Given the description of an element on the screen output the (x, y) to click on. 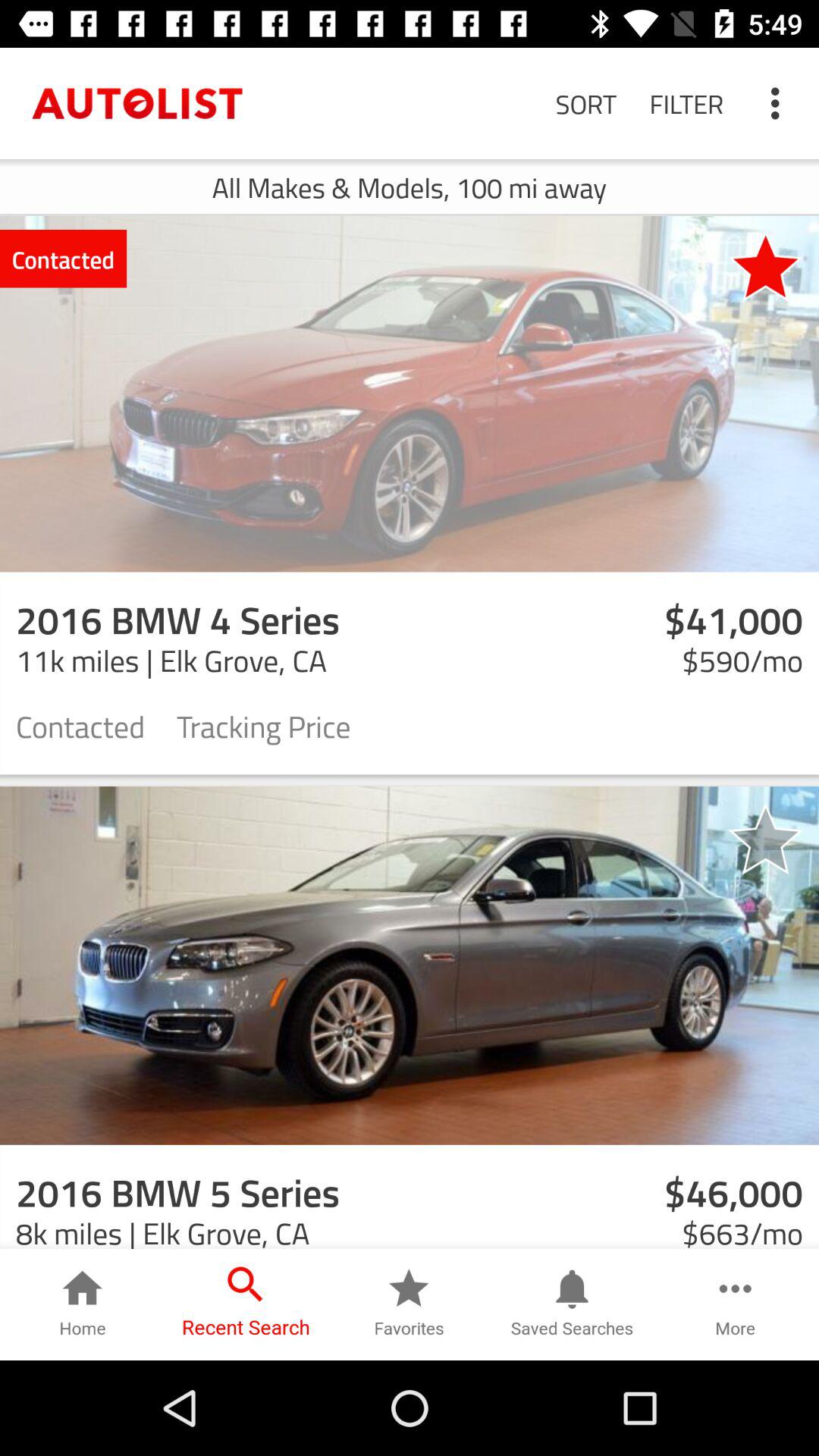
turn off the icon next to contacted icon (263, 725)
